Given the description of an element on the screen output the (x, y) to click on. 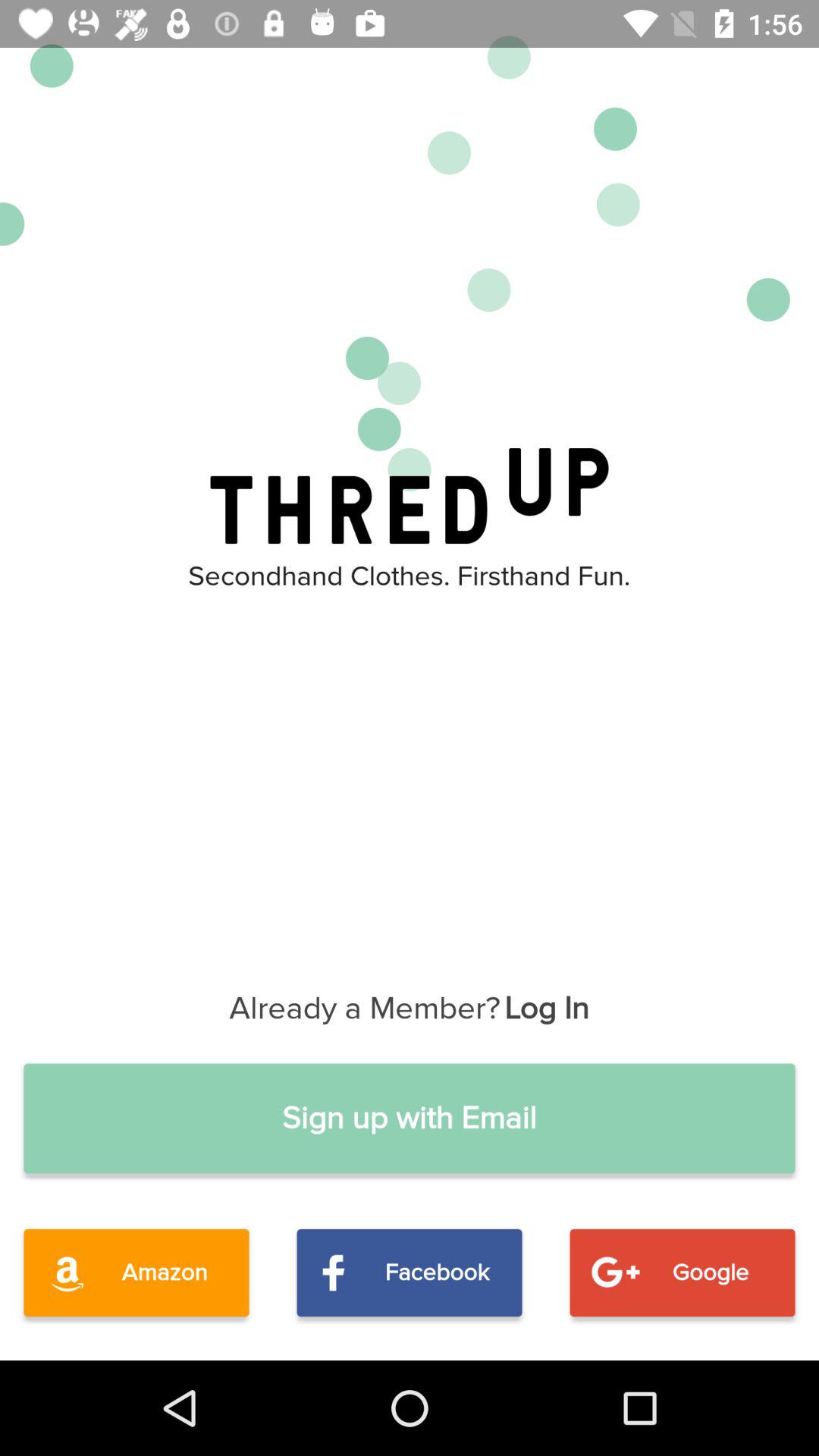
press the sign up with icon (409, 1118)
